Given the description of an element on the screen output the (x, y) to click on. 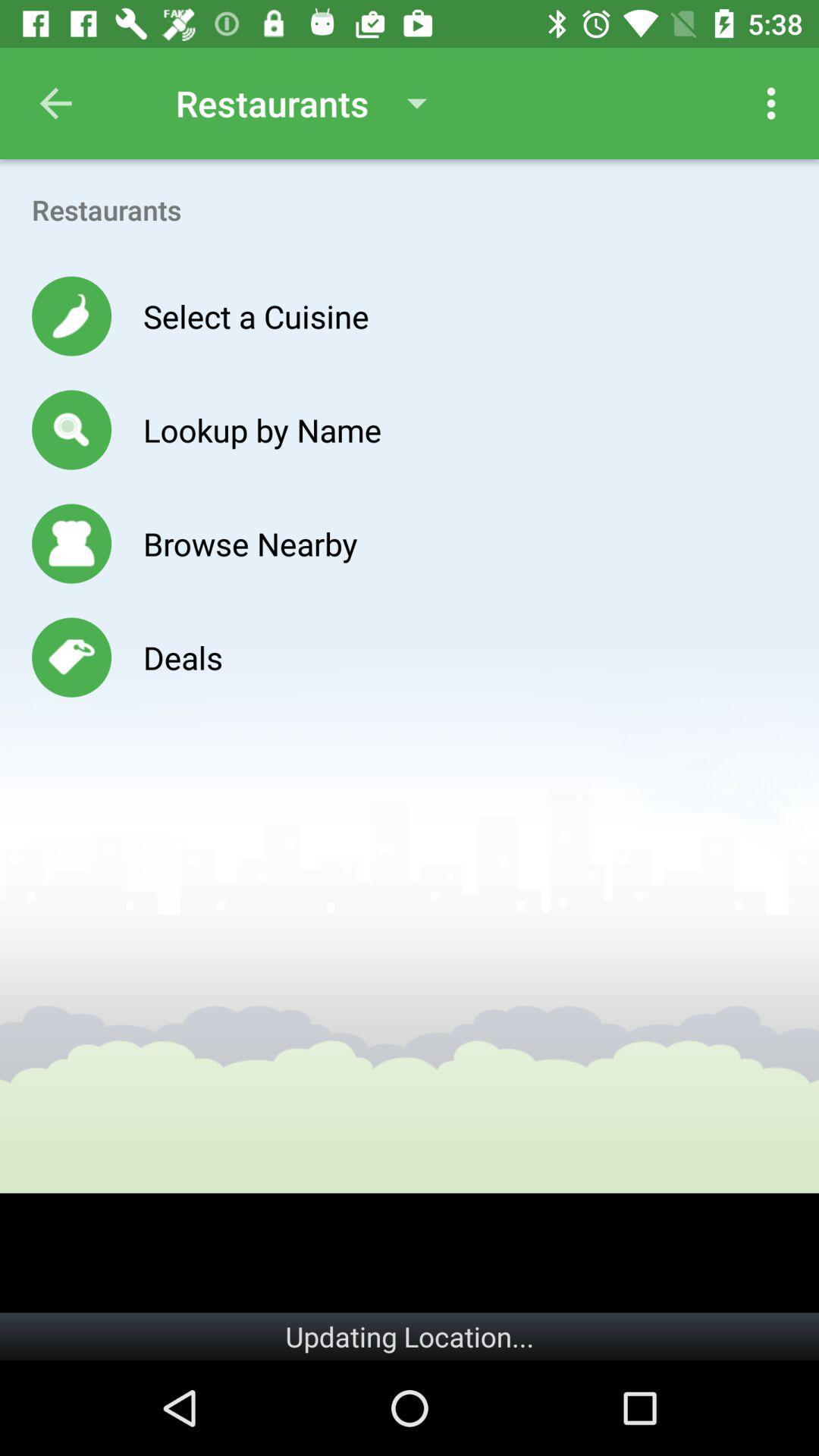
click the item below browse nearby icon (182, 657)
